Given the description of an element on the screen output the (x, y) to click on. 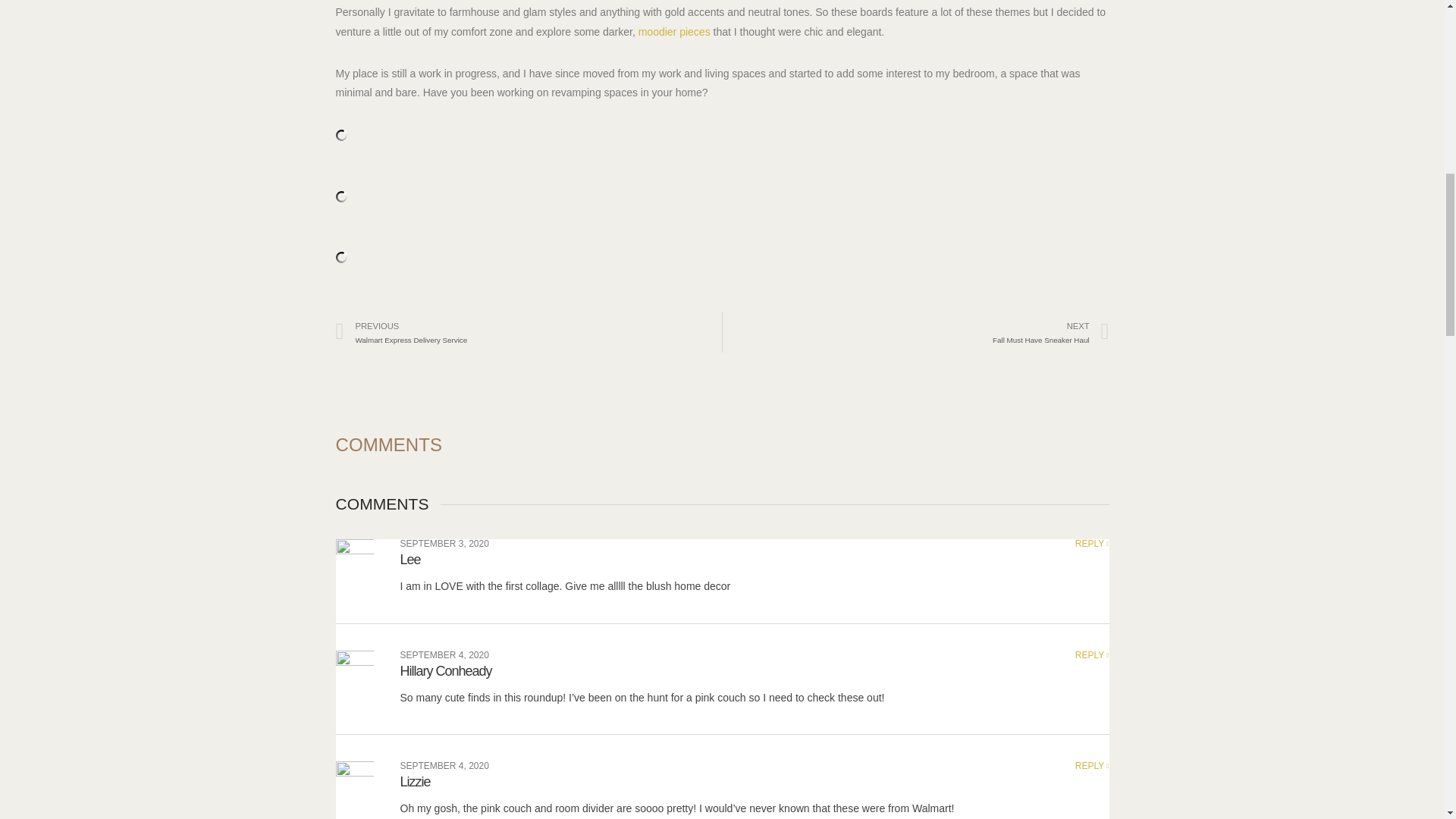
REPLY (915, 332)
moodier pieces (1092, 765)
REPLY (674, 31)
REPLY (1092, 655)
Hillary Conheady (1092, 542)
SEPTEMBER 4, 2020 (528, 332)
Lee (446, 670)
SEPTEMBER 3, 2020 (444, 765)
